Given the description of an element on the screen output the (x, y) to click on. 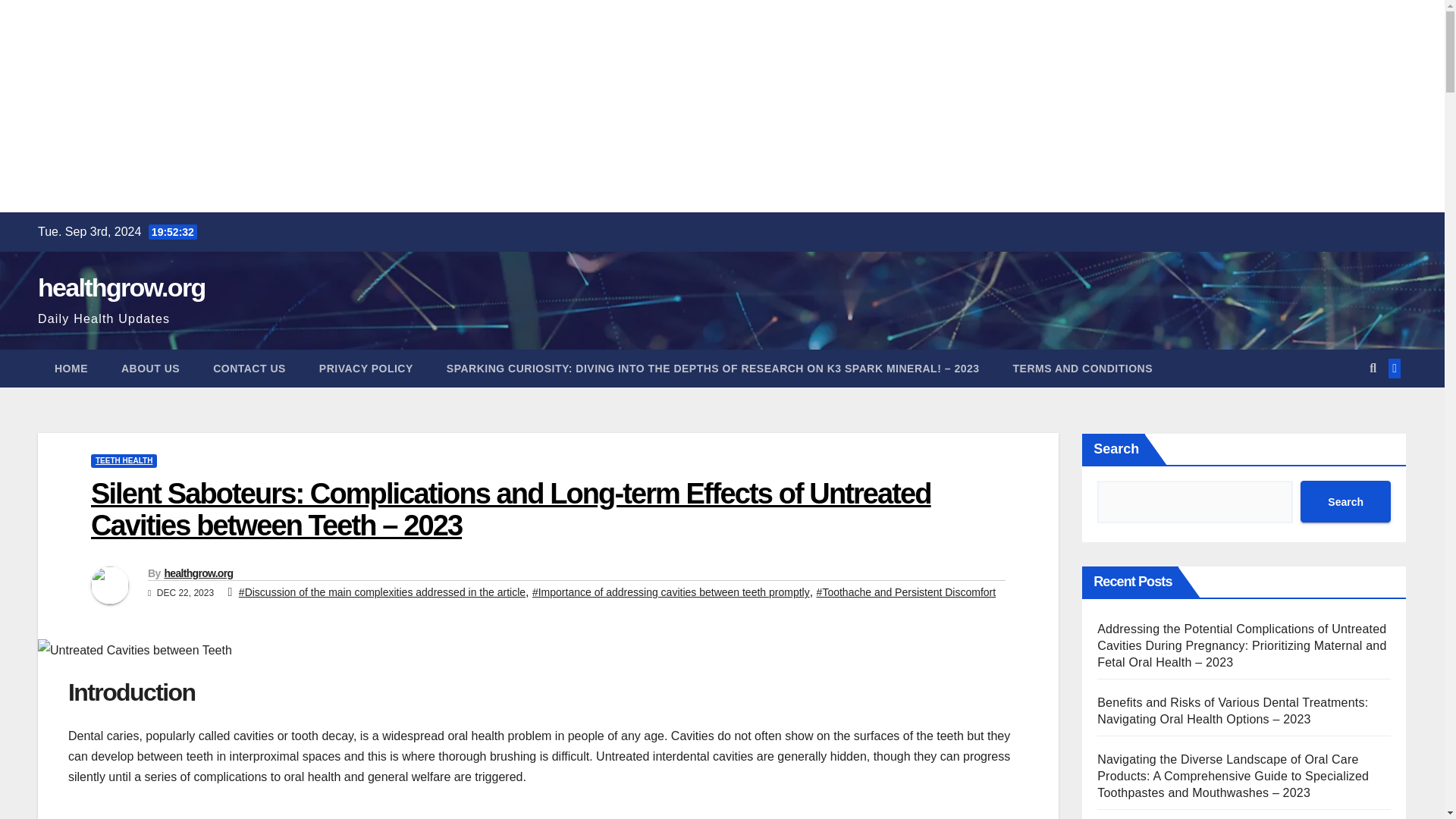
Home (70, 368)
HOME (70, 368)
ABOUT US (150, 368)
healthgrow.org (197, 573)
TEETH HEALTH (123, 460)
CONTACT US (249, 368)
PRIVACY POLICY (365, 368)
TERMS AND CONDITIONS (1082, 368)
healthgrow.org (121, 287)
